Given the description of an element on the screen output the (x, y) to click on. 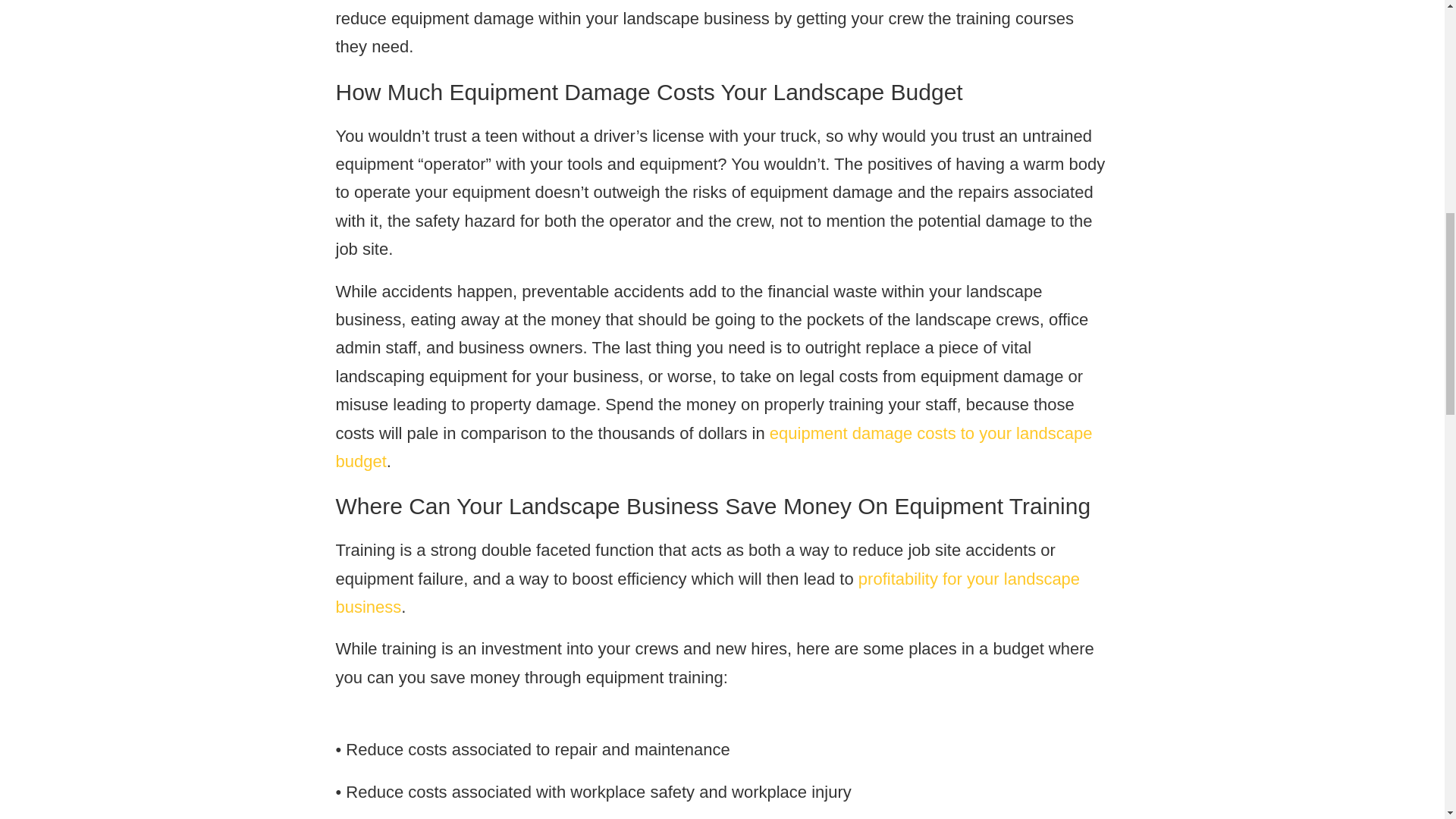
equipment damage costs to your landscape budget (713, 447)
profitability for your landscape business (707, 592)
